Given the description of an element on the screen output the (x, y) to click on. 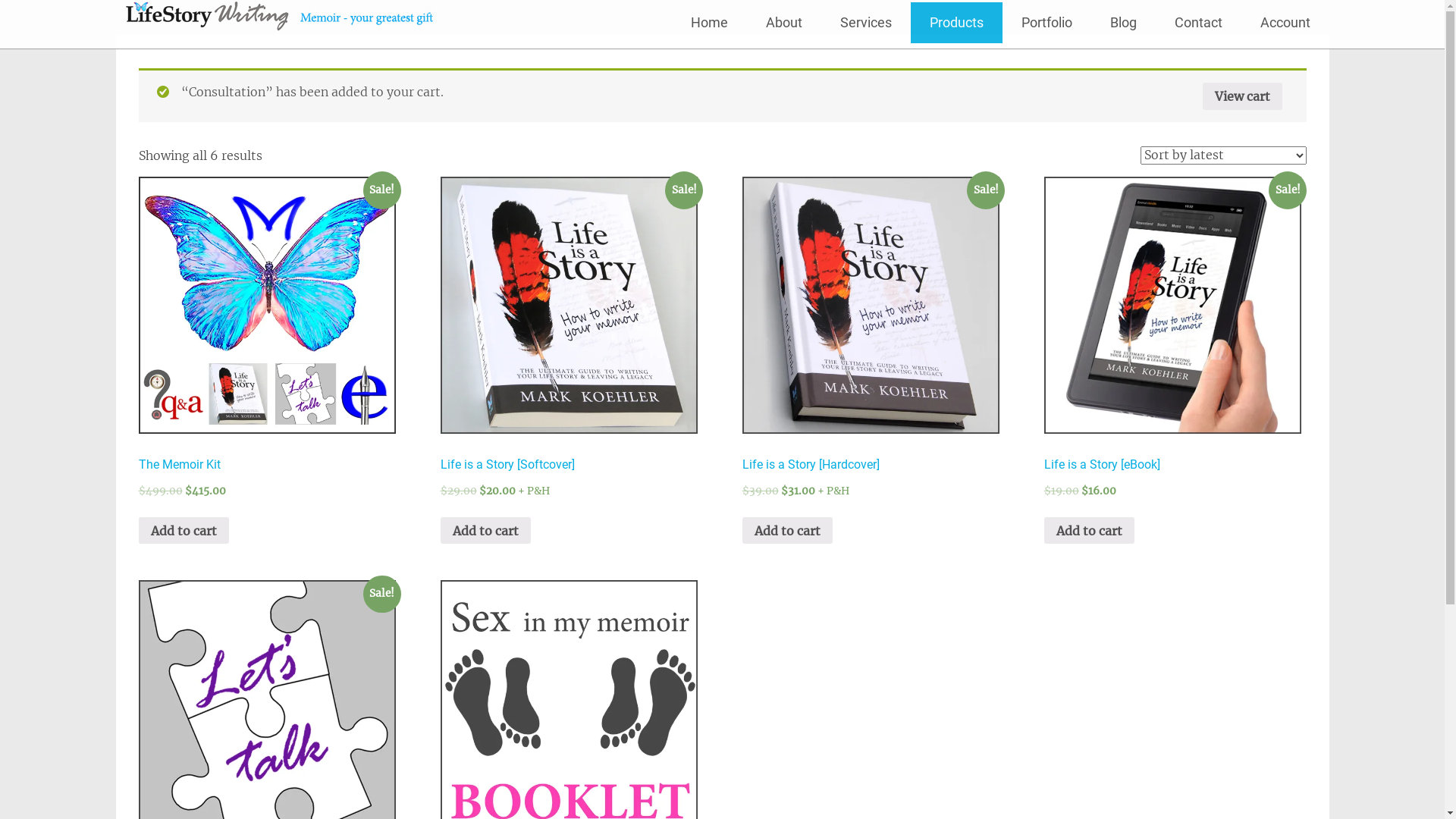
Sale!
Life is a Story [eBook]
$19.00 $16.00 Element type: text (1173, 357)
LifeStory Writing Element type: text (215, 66)
Sale!
Life is a Story [Softcover]
$29.00 $20.00 + P&H Element type: text (569, 357)
Sale!
Life is a Story [Hardcover]
$39.00 $31.00 + P&H Element type: text (871, 357)
Services Element type: text (865, 22)
Portfolio Element type: text (1046, 22)
Products Element type: text (955, 22)
Account Element type: text (1284, 22)
View cart Element type: text (1242, 95)
About Element type: text (783, 22)
Add to cart Element type: text (183, 530)
Add to cart Element type: text (485, 530)
Add to cart Element type: text (787, 530)
Add to cart Element type: text (1089, 530)
Skip to content Element type: text (689, 1)
LifeStory Writing Element type: hover (279, 16)
Contact Element type: text (1198, 22)
Home Element type: text (708, 22)
Blog Element type: text (1122, 22)
Sale!
The Memoir Kit
$499.00 $415.00 Element type: text (266, 357)
